Given the description of an element on the screen output the (x, y) to click on. 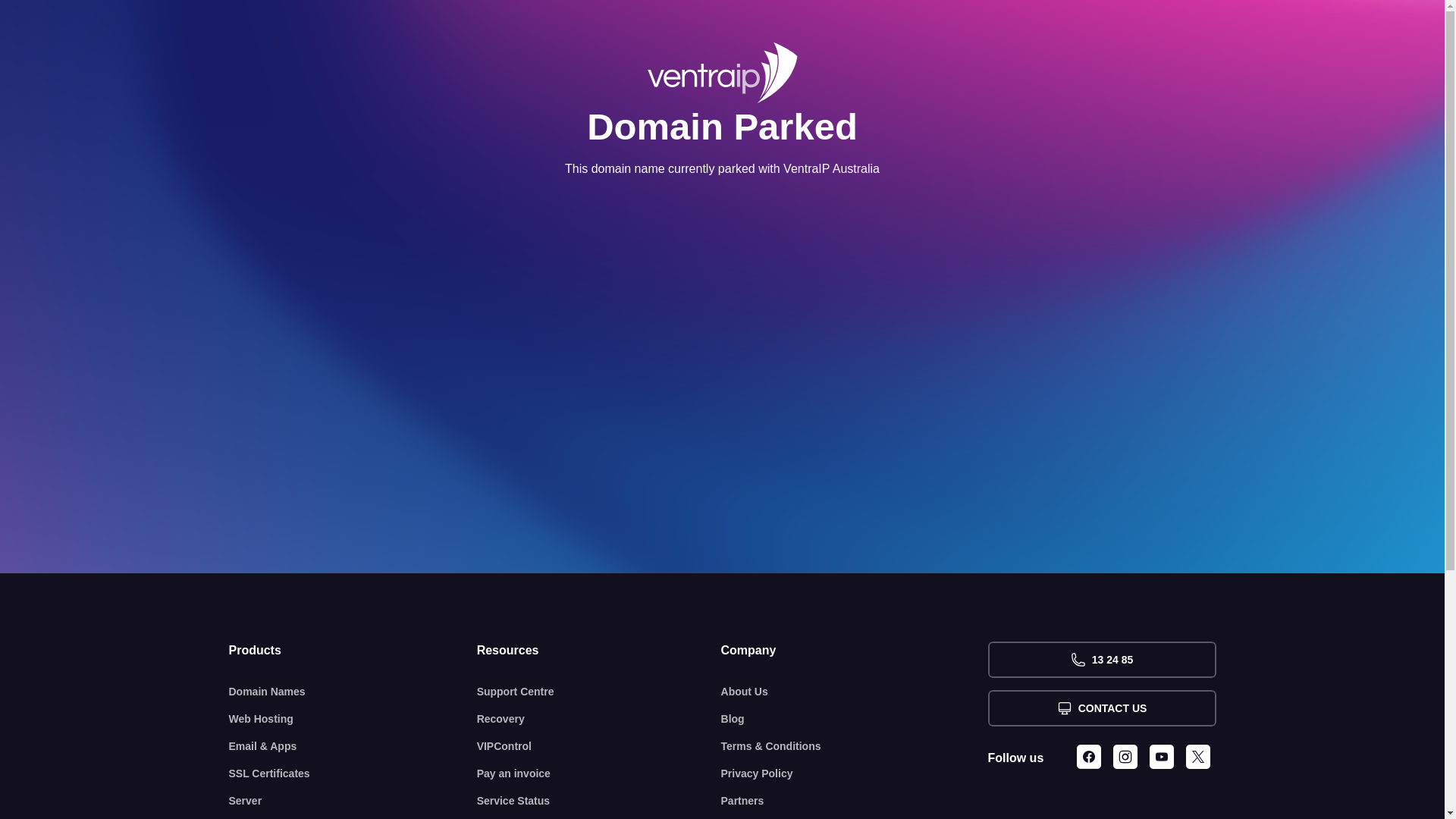
About Us Element type: text (854, 691)
Recovery Element type: text (598, 718)
Partners Element type: text (854, 800)
Terms & Conditions Element type: text (854, 745)
VIPControl Element type: text (598, 745)
13 24 85 Element type: text (1101, 659)
Pay an invoice Element type: text (598, 773)
SSL Certificates Element type: text (352, 773)
Privacy Policy Element type: text (854, 773)
Support Centre Element type: text (598, 691)
Email & Apps Element type: text (352, 745)
CONTACT US Element type: text (1101, 708)
Server Element type: text (352, 800)
Service Status Element type: text (598, 800)
Blog Element type: text (854, 718)
Web Hosting Element type: text (352, 718)
Domain Names Element type: text (352, 691)
